Given the description of an element on the screen output the (x, y) to click on. 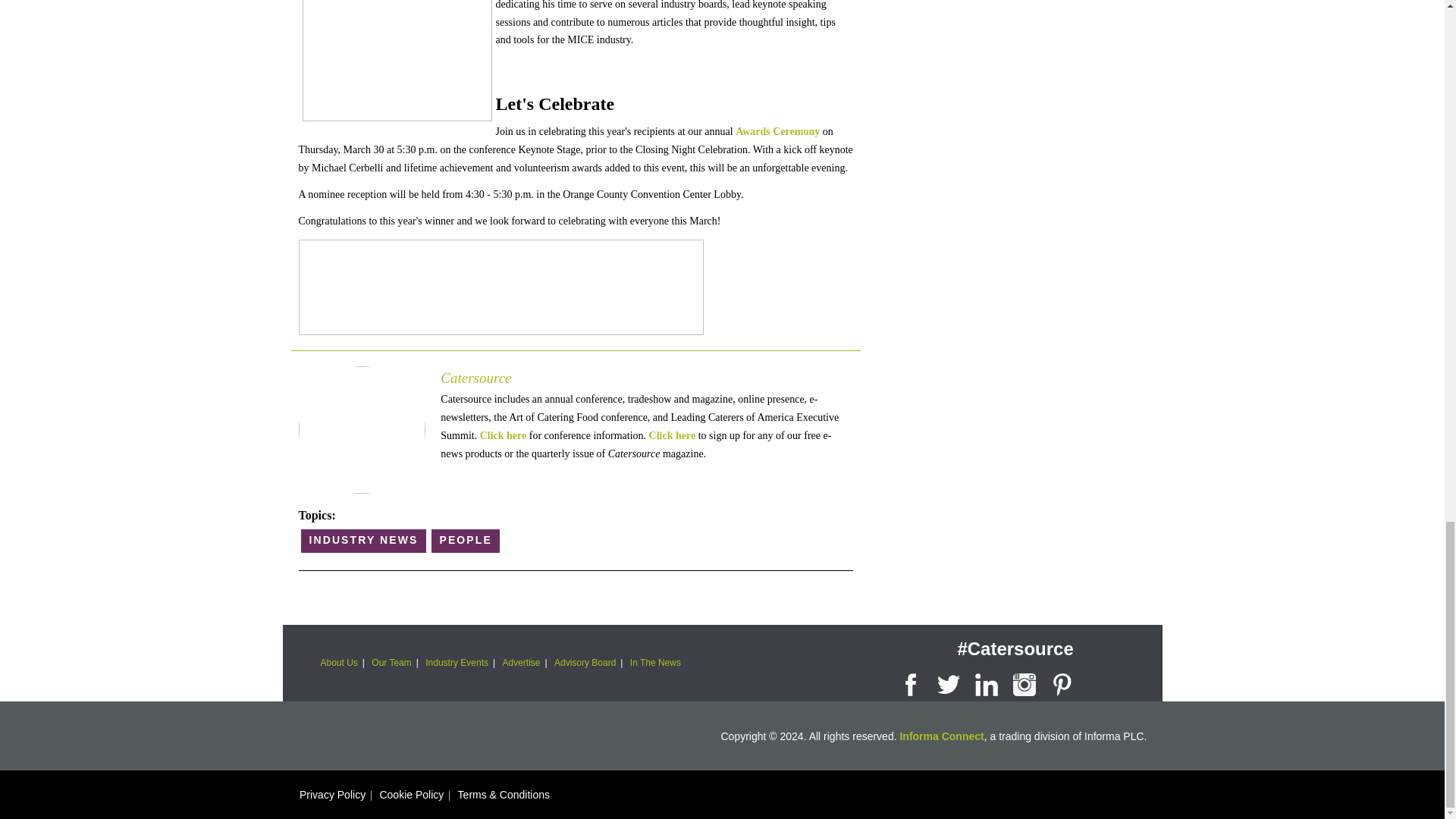
Awards Ceremony (777, 131)
Catersource (476, 377)
INDUSTRY NEWS (363, 540)
PEOPLE (464, 540)
Visit Catersource on Instagram (1024, 680)
About Us (338, 662)
Click here (503, 435)
Visit catersource on Pinterest (1062, 680)
Visit Catersource on Facebook (910, 680)
Visit Catersource on LinkedIn (987, 680)
